Given the description of an element on the screen output the (x, y) to click on. 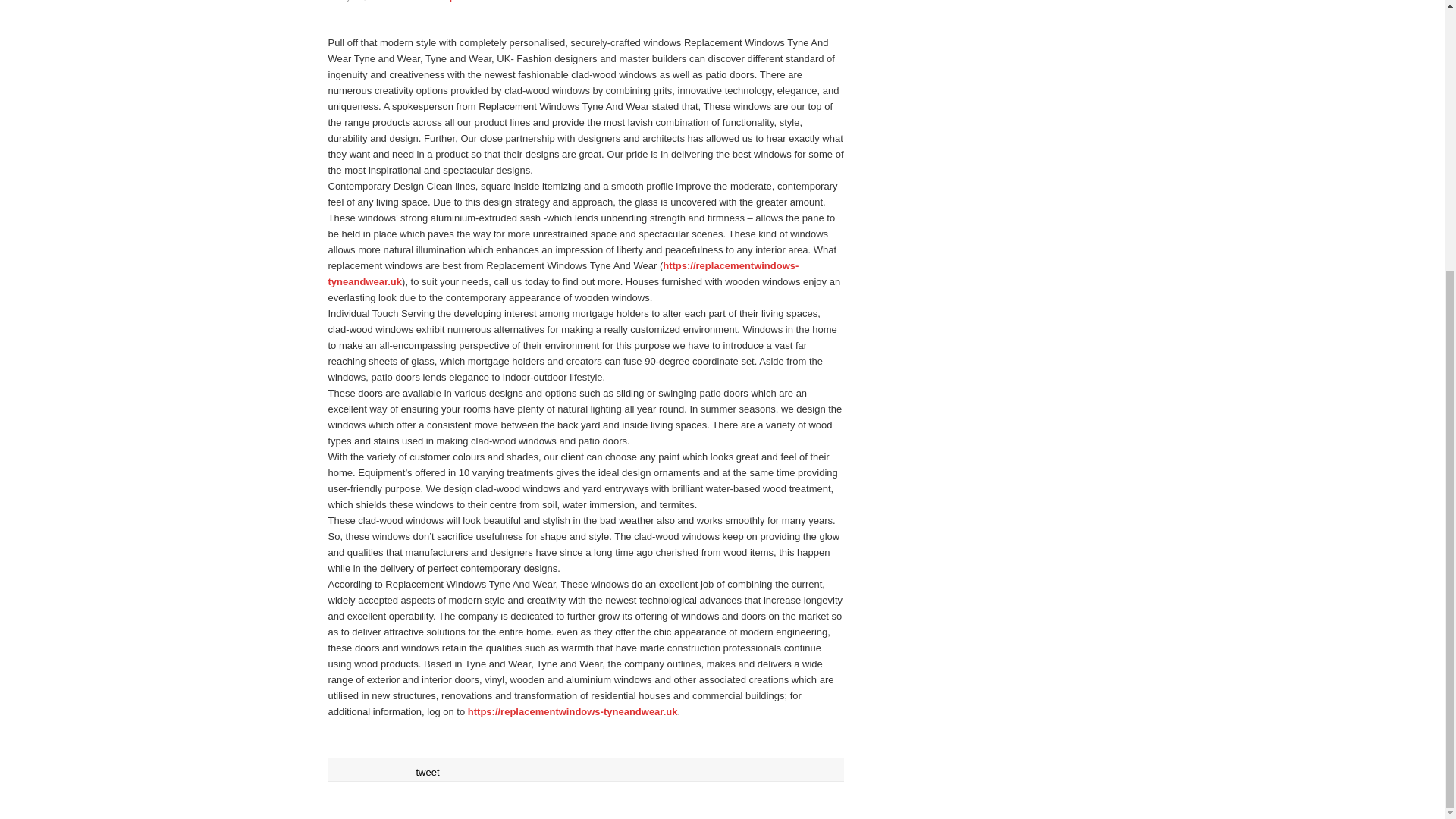
Replacement Window (484, 0)
admin (414, 0)
Posts by admin (414, 0)
